Given the description of an element on the screen output the (x, y) to click on. 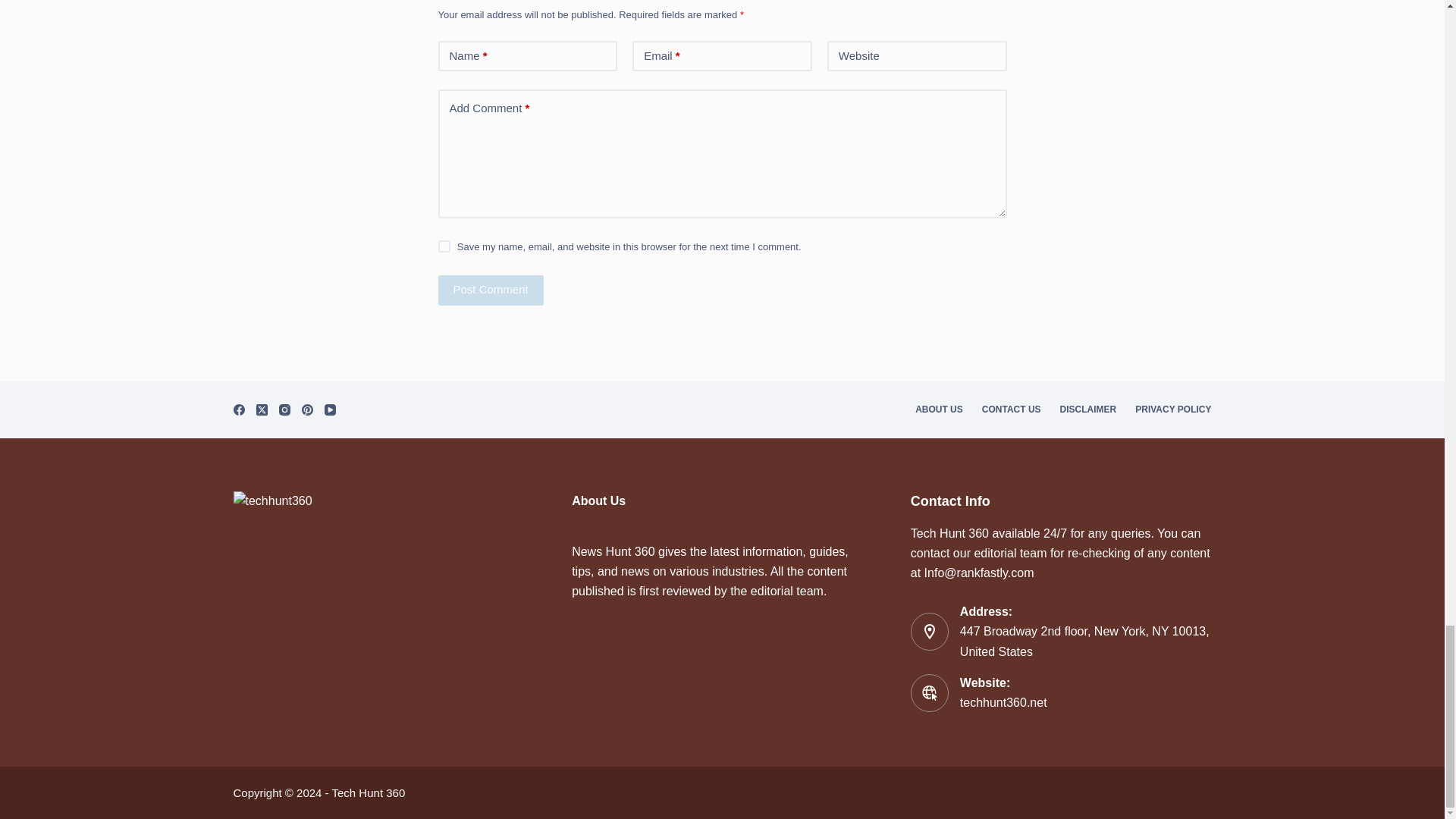
yes (443, 246)
